Given the description of an element on the screen output the (x, y) to click on. 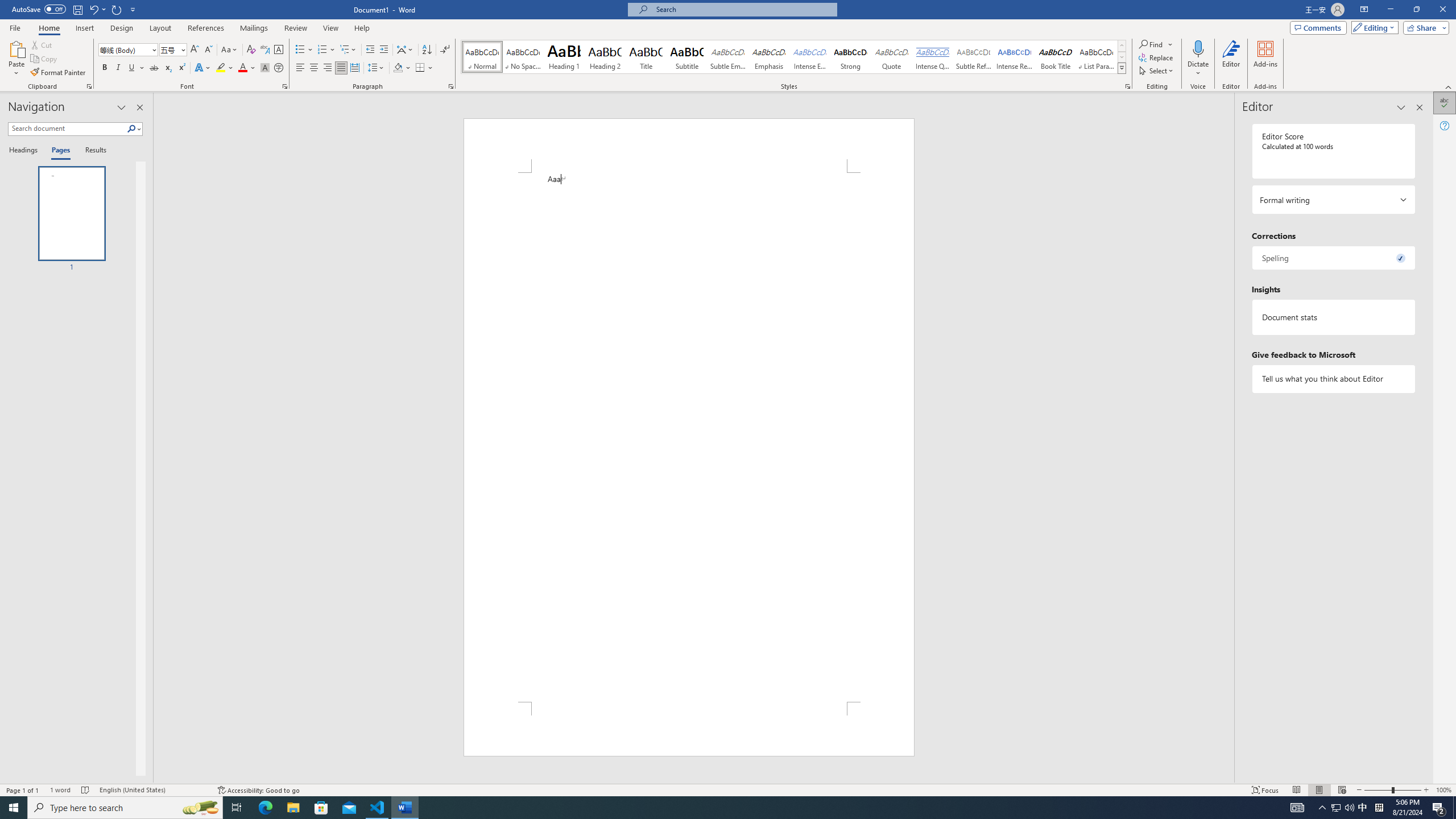
Styles (1121, 67)
Sort... (426, 49)
Close (1442, 9)
Decrease Indent (370, 49)
Customize Quick Access Toolbar (133, 9)
More Options (1197, 68)
Bold (104, 67)
Class: NetUIScrollBar (1229, 437)
Emphasis (768, 56)
Intense Quote (932, 56)
Text Highlight Color (224, 67)
Numbering (326, 49)
Minimize (1390, 9)
Home (48, 28)
Show/Hide Editing Marks (444, 49)
